Given the description of an element on the screen output the (x, y) to click on. 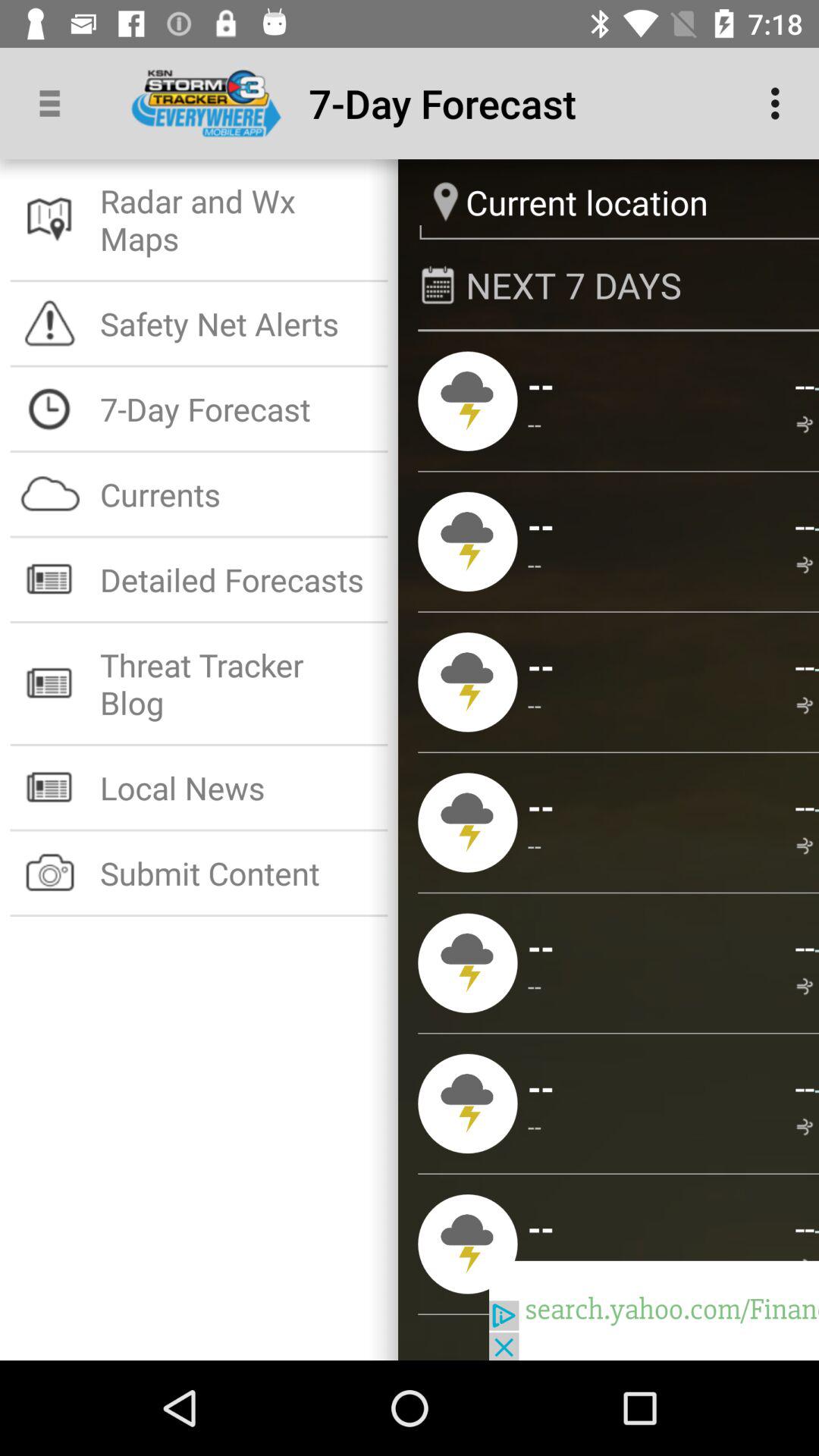
turn off the icon next to -- icon (540, 1087)
